Given the description of an element on the screen output the (x, y) to click on. 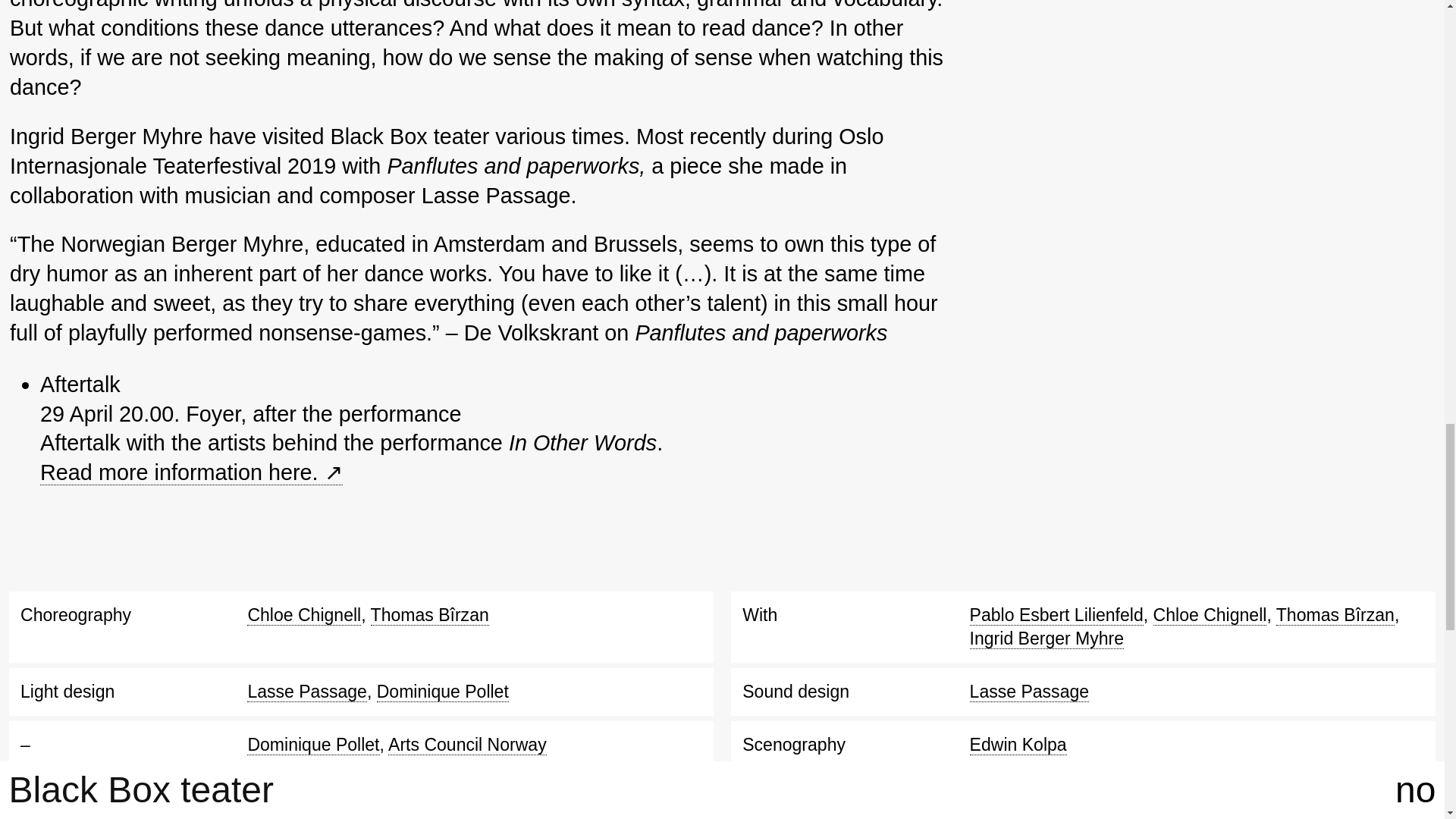
: null (191, 472)
